Given the description of an element on the screen output the (x, y) to click on. 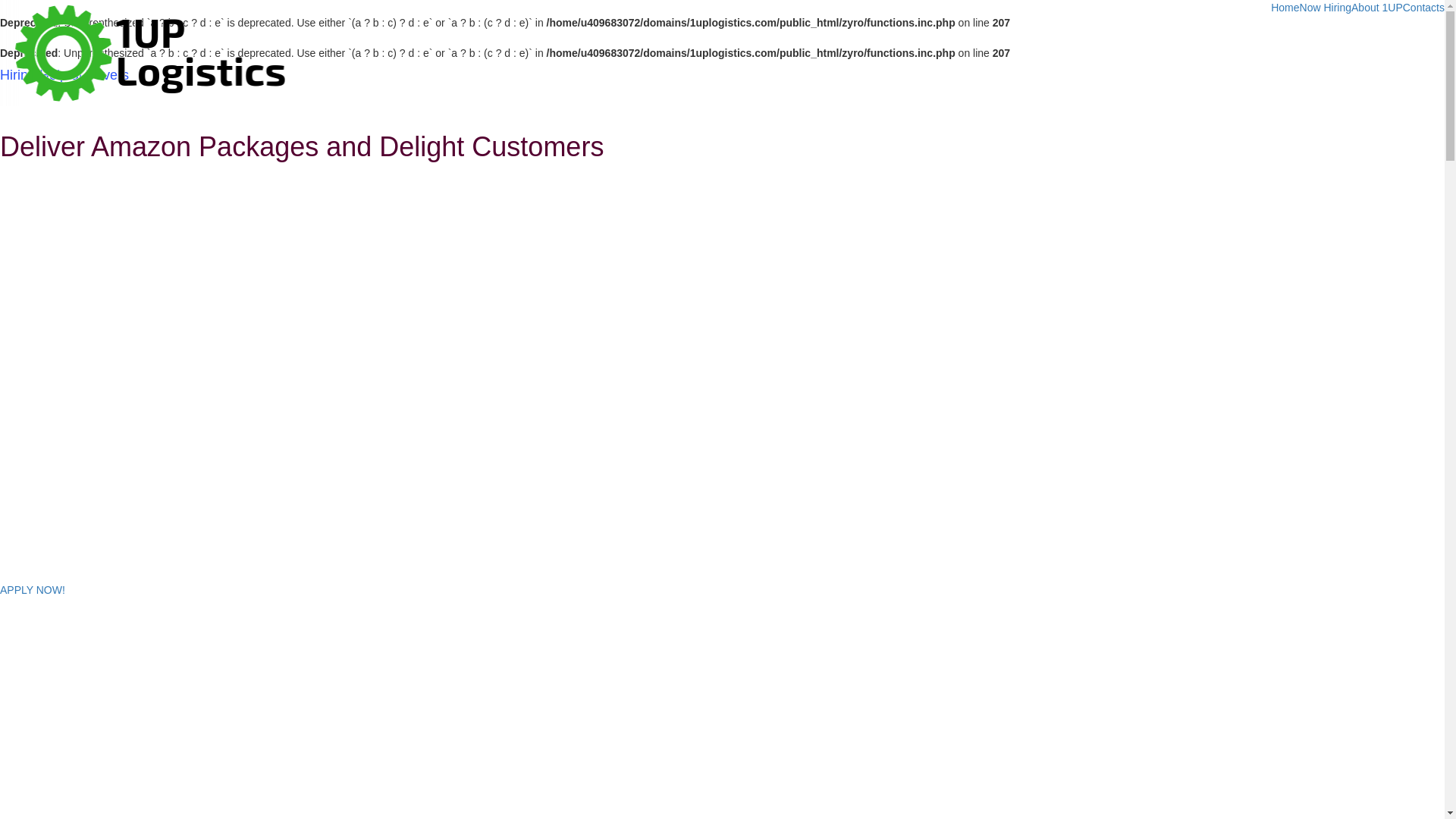
Contacts Element type: text (1423, 7)
About 1UP Element type: text (1376, 7)
Home Element type: text (1284, 7)
Now Hiring Element type: text (1325, 7)
